Given the description of an element on the screen output the (x, y) to click on. 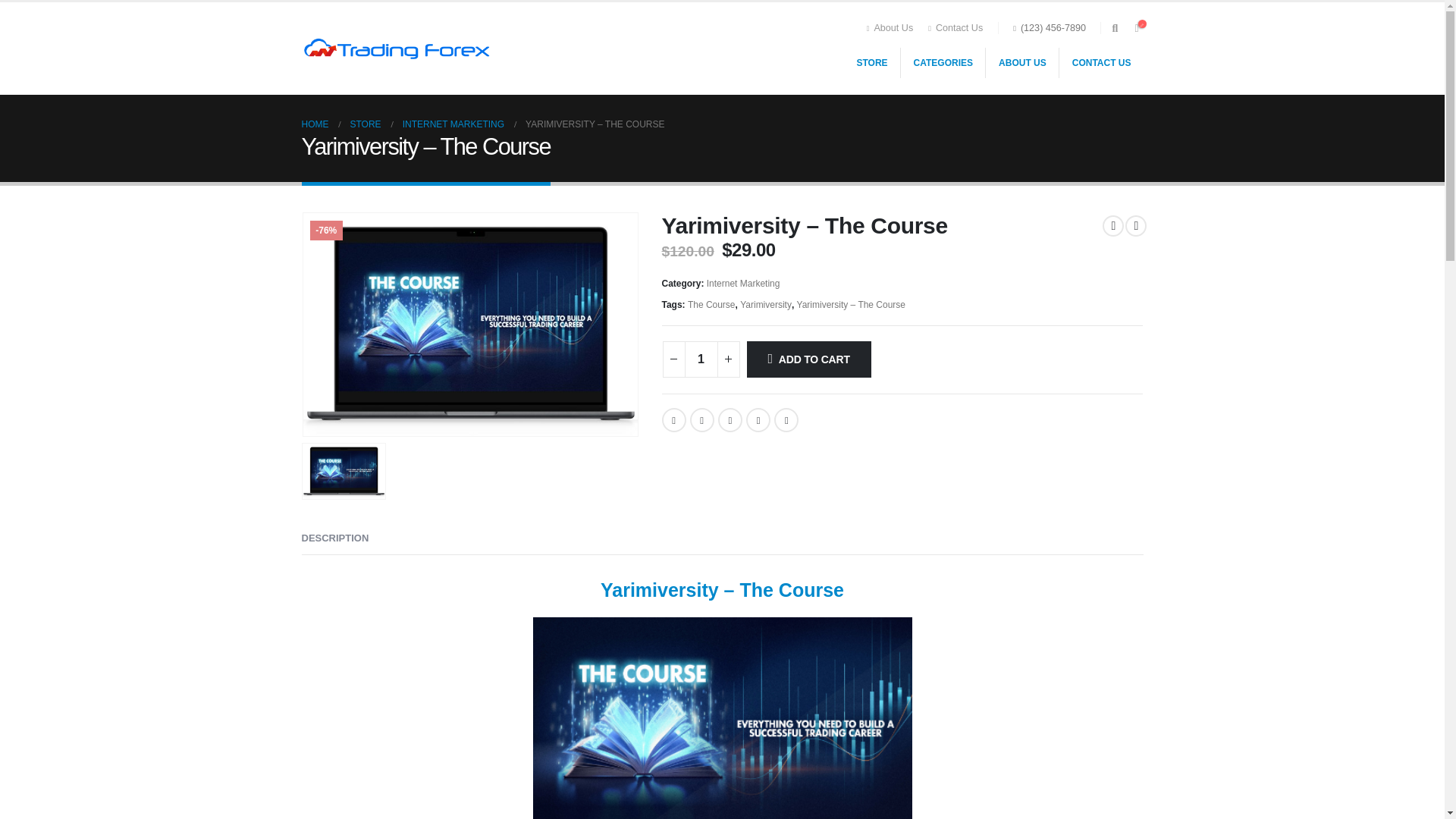
Contact Us (955, 27)
STORE (871, 62)
Go to Home Page (315, 124)
LinkedIn (729, 419)
About Us (893, 27)
1 (700, 359)
Twitter (702, 419)
CATEGORIES (943, 62)
ABOUT US (1023, 62)
Facebook (673, 419)
